Given the description of an element on the screen output the (x, y) to click on. 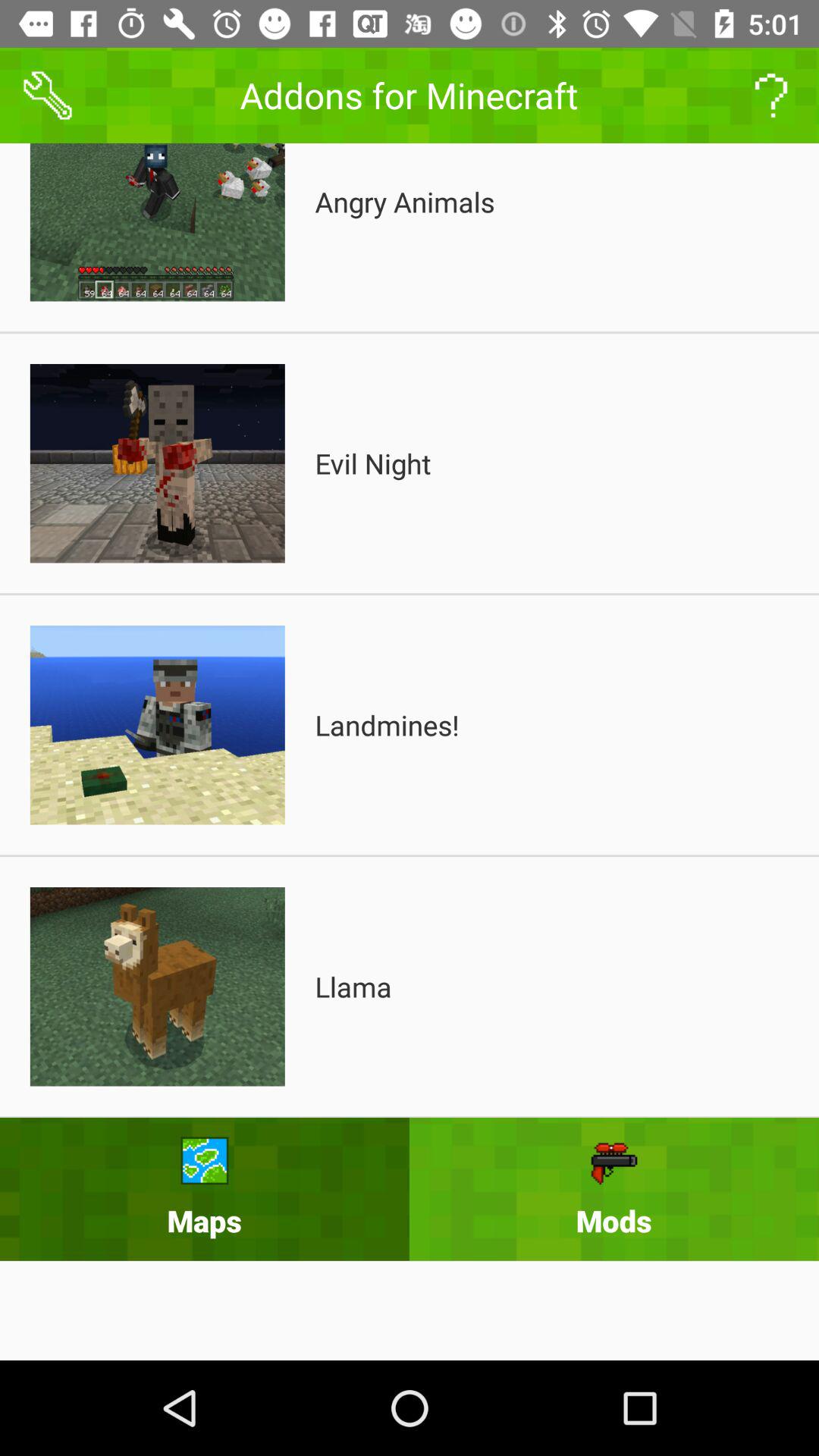
open icon above the llama (387, 724)
